Given the description of an element on the screen output the (x, y) to click on. 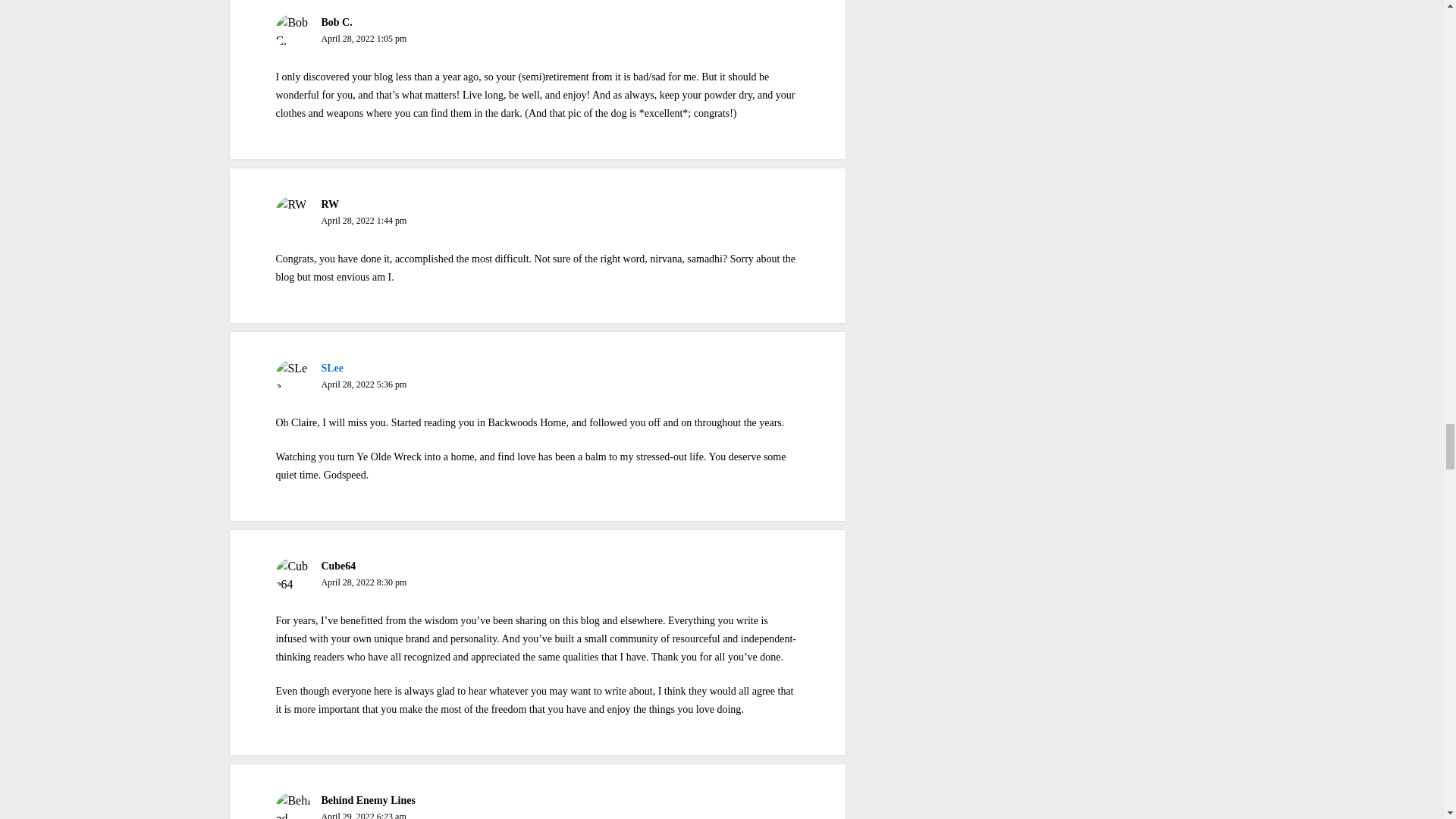
SLee (331, 367)
